Given the description of an element on the screen output the (x, y) to click on. 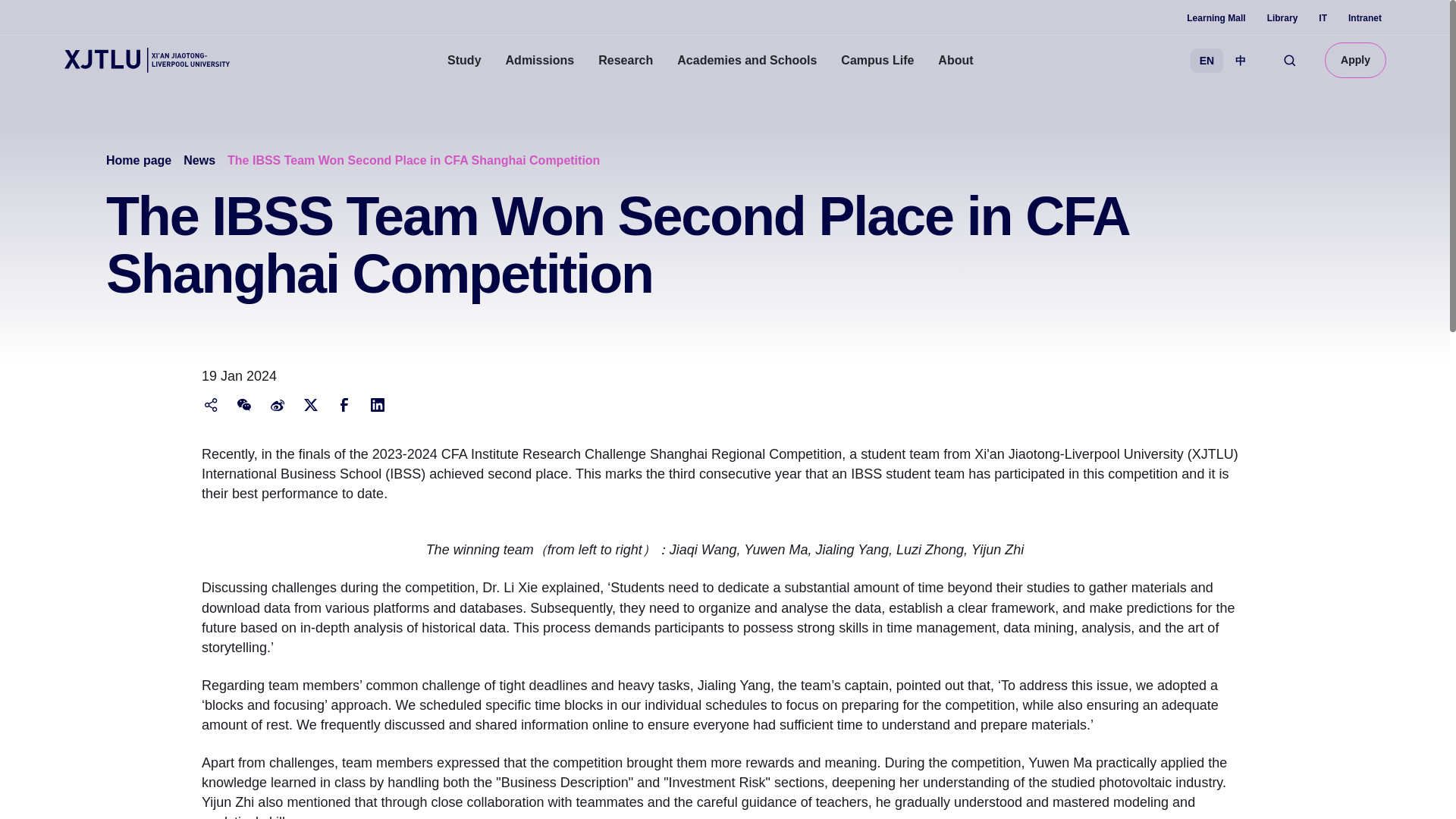
Library (1282, 18)
Admissions (539, 60)
Learning Mall (1215, 18)
Intranet (1364, 18)
Study (464, 60)
